Given the description of an element on the screen output the (x, y) to click on. 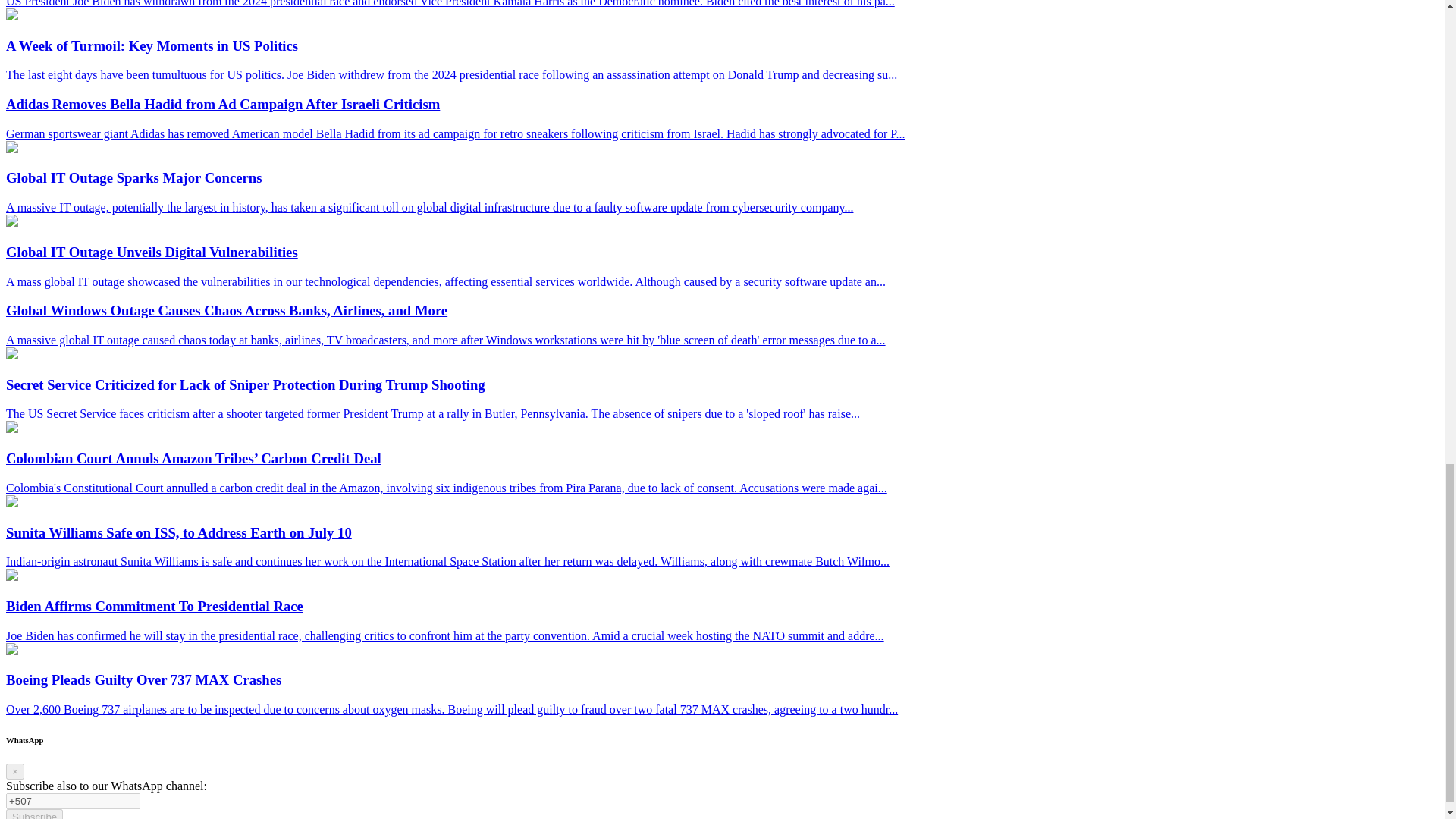
Global IT Outage Sparks Major Concerns (11, 148)
Biden Affirms Commitment To Presidential Race (11, 576)
Global IT Outage Unveils Digital Vulnerabilities (11, 222)
Sunita Williams Safe on ISS, to Address Earth on July 10 (11, 502)
A Week of Turmoil: Key Moments in US Politics (11, 15)
